Given the description of an element on the screen output the (x, y) to click on. 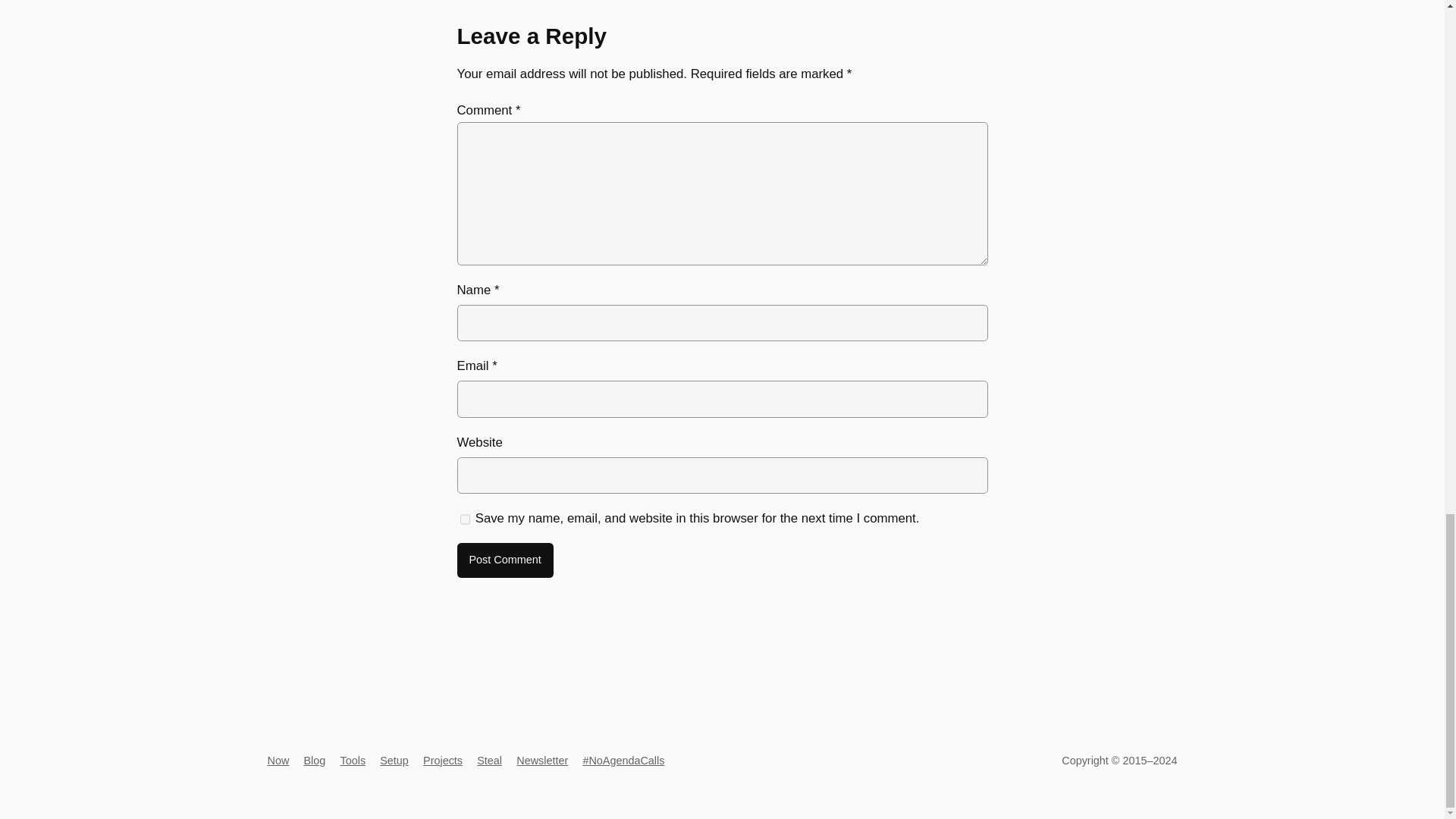
Newsletter (541, 760)
Setup (394, 760)
Blog (313, 760)
Now (277, 760)
Tools (352, 760)
Steal (489, 760)
Projects (443, 760)
Post Comment (505, 560)
Post Comment (505, 560)
